Given the description of an element on the screen output the (x, y) to click on. 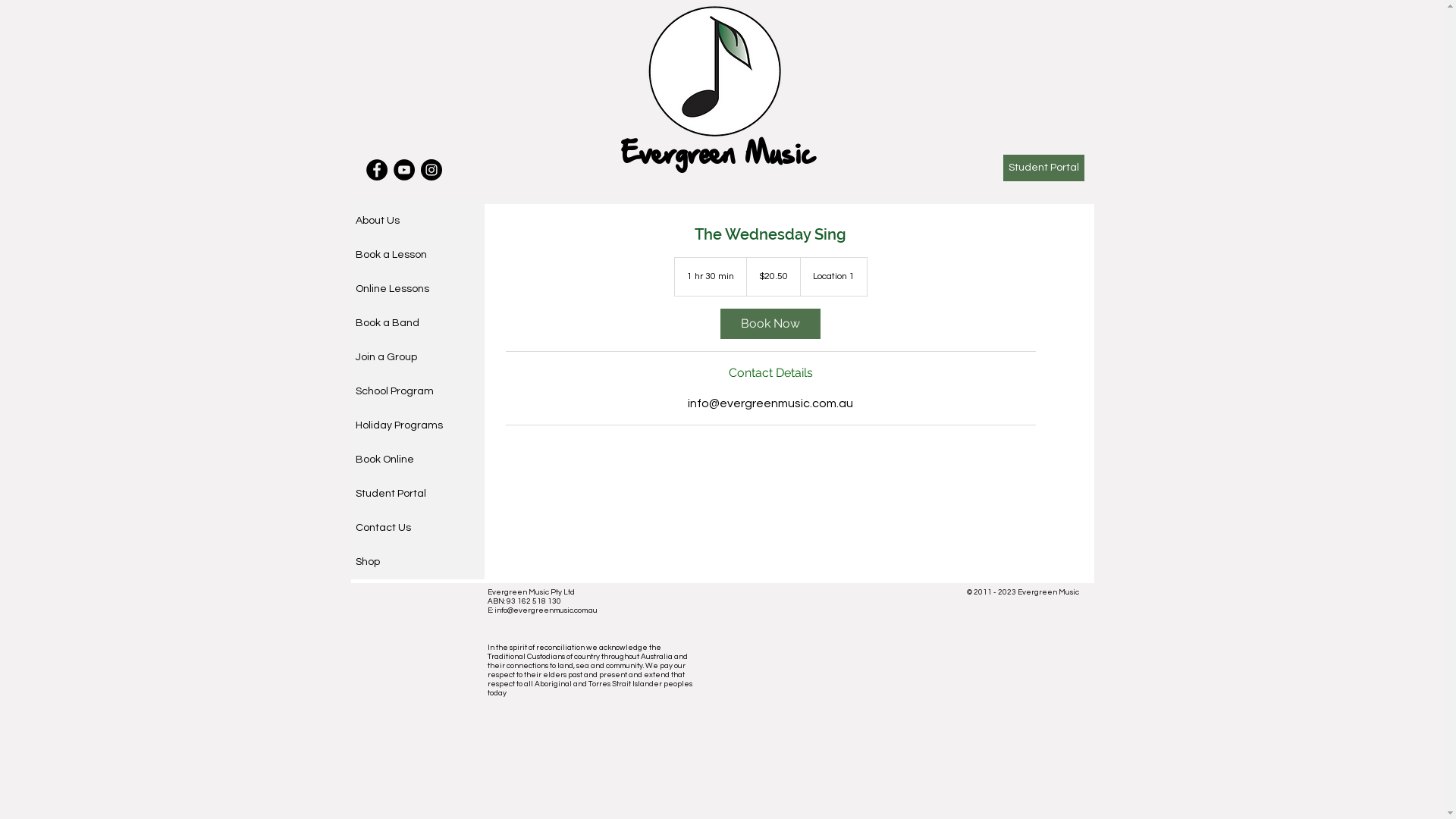
School Program Element type: text (416, 391)
Student Portal Element type: text (1042, 167)
Book Now Element type: text (770, 323)
Contact Us Element type: text (416, 528)
Book Online Element type: text (416, 459)
Holiday Programs Element type: text (416, 425)
Online Lessons Element type: text (416, 289)
info@evergreenmusic.com.au Element type: text (545, 610)
Shop Element type: text (416, 562)
Student Portal Element type: text (416, 493)
About Us Element type: text (416, 220)
